Given the description of an element on the screen output the (x, y) to click on. 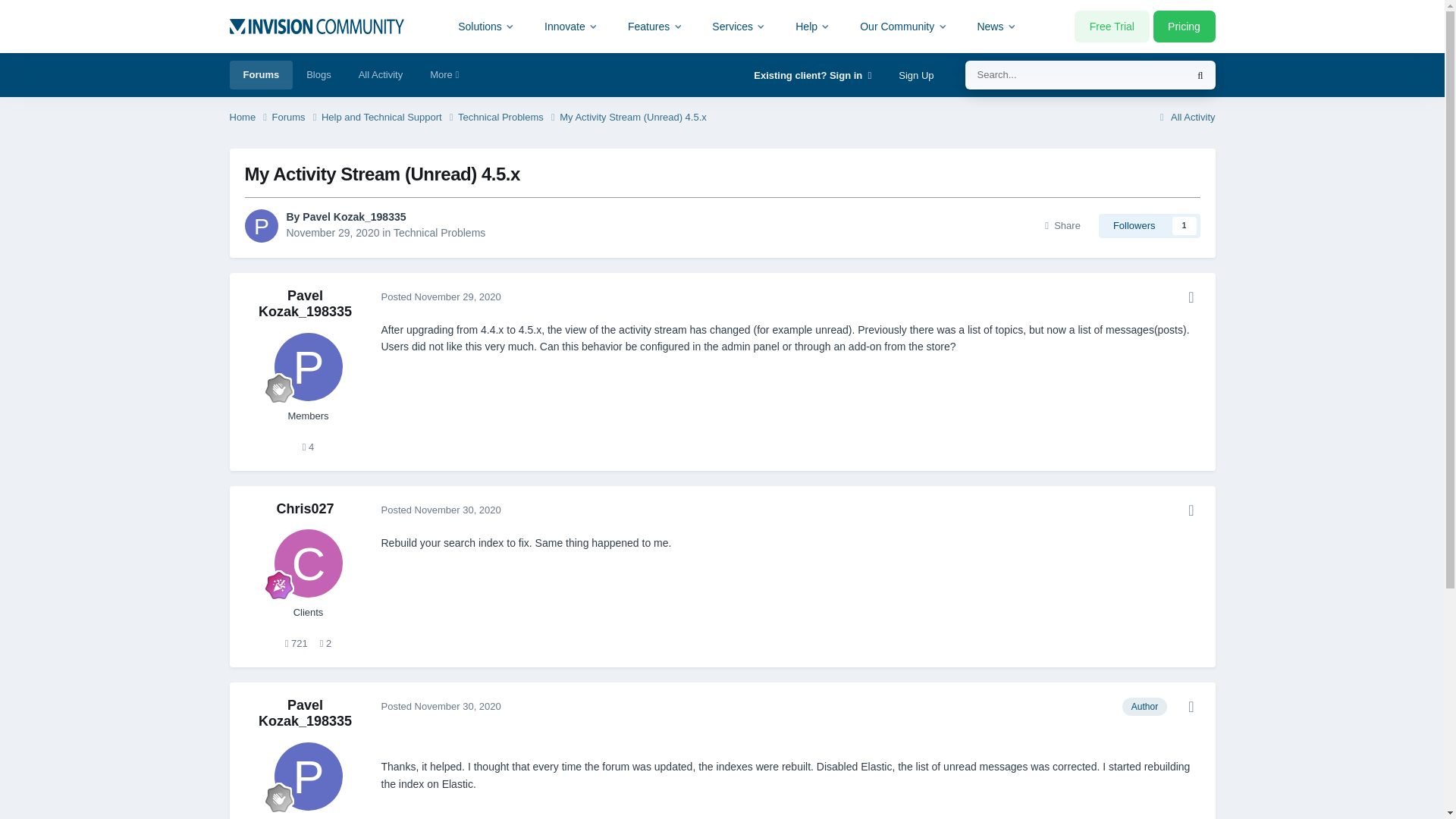
Innovate (570, 26)
Solutions (486, 26)
Home (249, 117)
Features (654, 26)
Help (812, 26)
Services (738, 26)
